Given the description of an element on the screen output the (x, y) to click on. 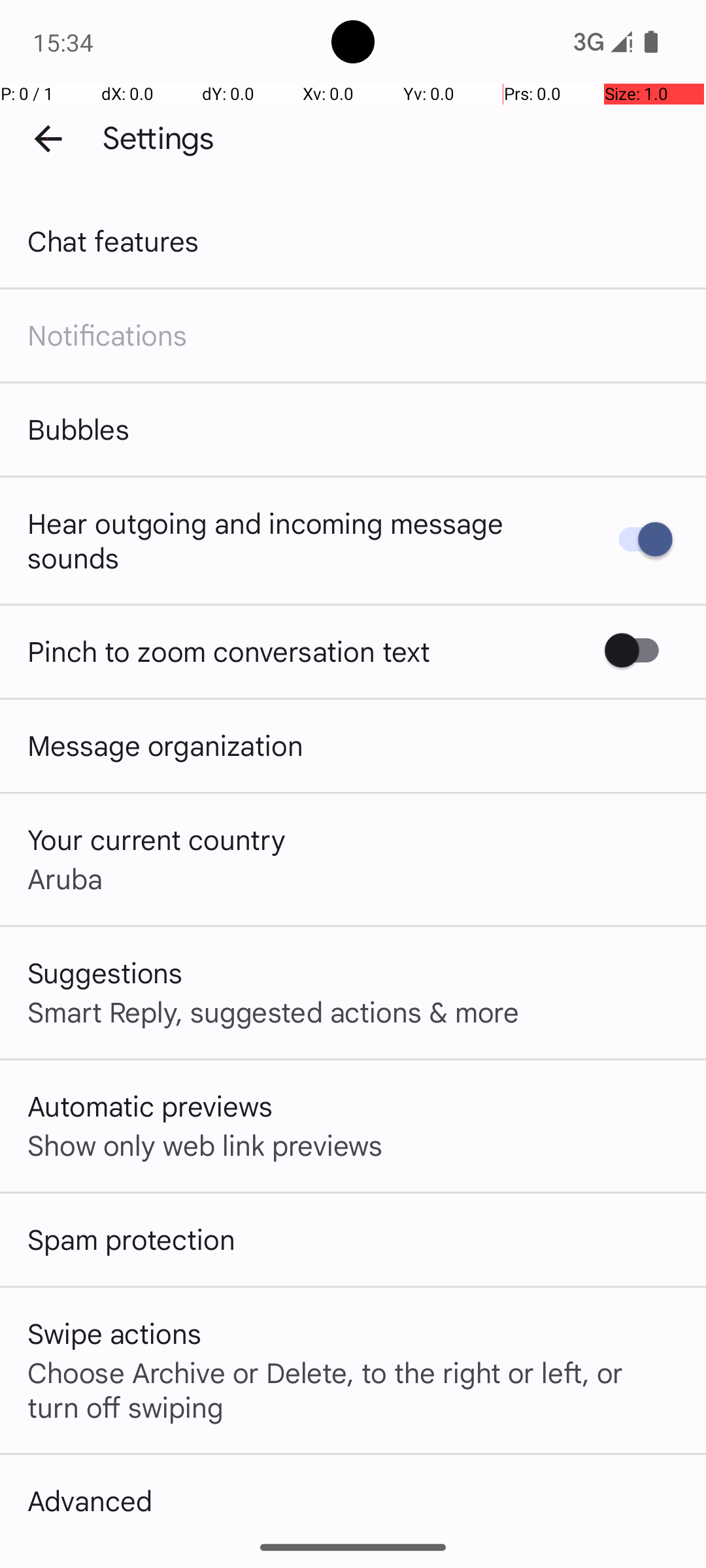
Chat features Element type: android.widget.TextView (113, 240)
Hear outgoing and incoming message sounds Element type: android.widget.TextView (299, 539)
Pinch to zoom conversation text Element type: android.widget.TextView (228, 650)
Message organization Element type: android.widget.TextView (165, 744)
Your current country Element type: android.widget.TextView (156, 838)
Aruba Element type: android.widget.TextView (64, 877)
Smart Reply, suggested actions & more Element type: android.widget.TextView (273, 1010)
Automatic previews Element type: android.widget.TextView (149, 1105)
Show only web link previews Element type: android.widget.TextView (205, 1144)
Spam protection Element type: android.widget.TextView (131, 1238)
Swipe actions Element type: android.widget.TextView (114, 1332)
Choose Archive or Delete, to the right or left, or turn off swiping Element type: android.widget.TextView (352, 1388)
